Given the description of an element on the screen output the (x, y) to click on. 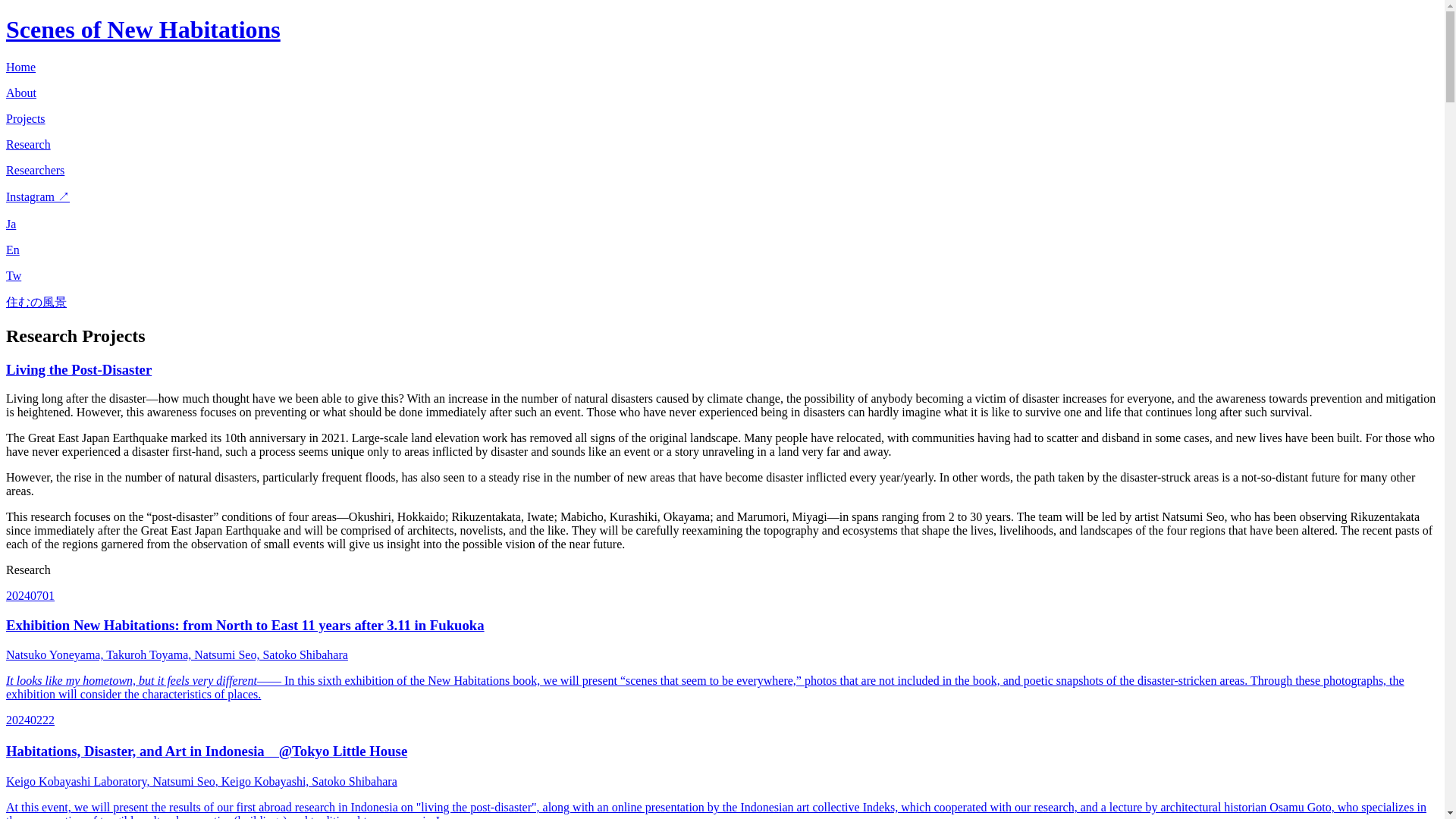
Living the Post-Disaster (78, 369)
Home (19, 66)
Projects (25, 118)
Scenes of New Habitations (143, 29)
Ja (10, 223)
Researchers (34, 169)
Research (27, 144)
En (12, 249)
Tw (13, 275)
About (20, 92)
